Given the description of an element on the screen output the (x, y) to click on. 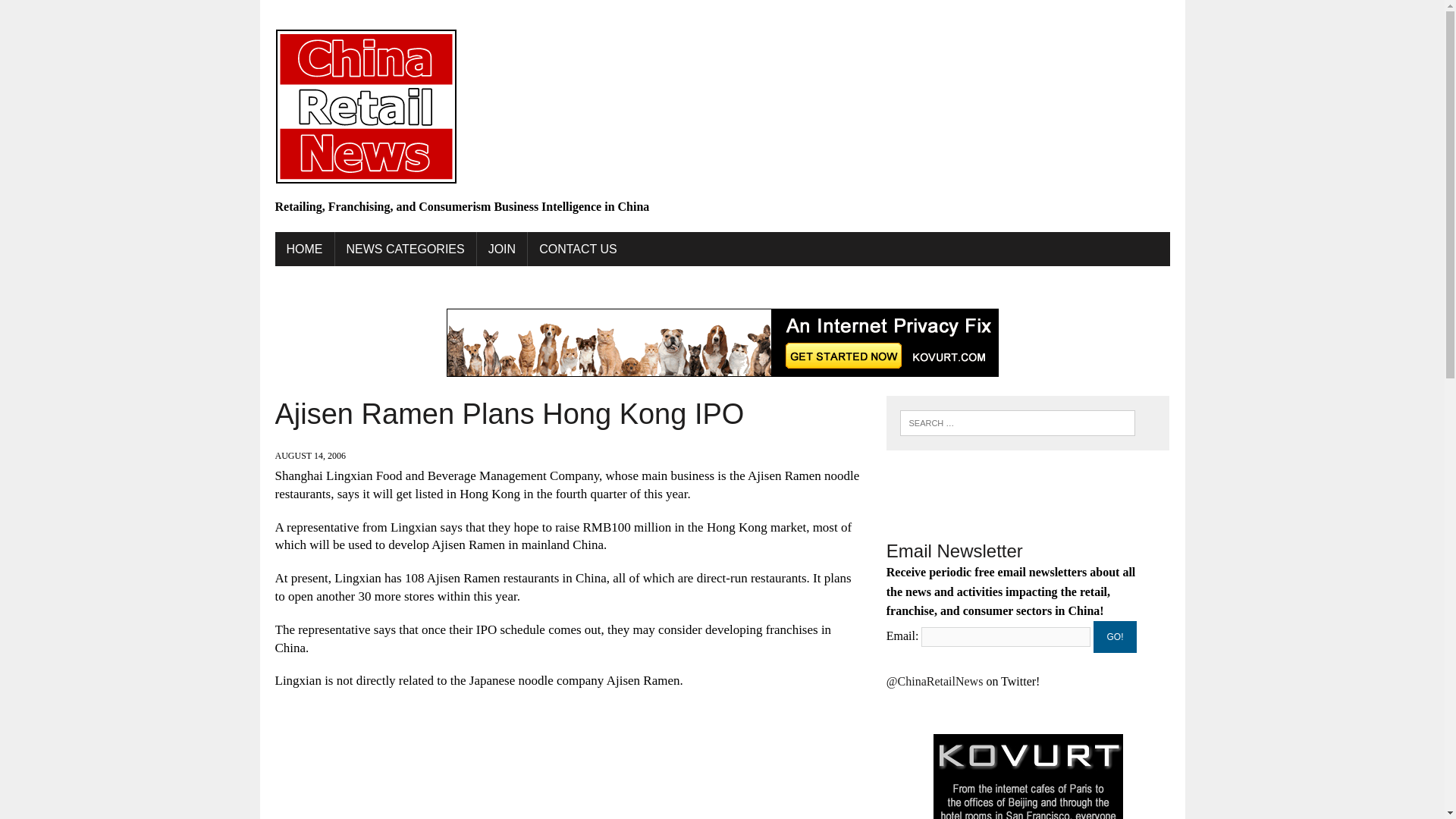
NEWS CATEGORIES (405, 248)
Advertisement (569, 762)
Contact Us (577, 248)
CONTACT US (577, 248)
Search (75, 14)
 GO!  (1115, 636)
 GO!  (1115, 636)
HOME (304, 248)
Join (502, 248)
JOIN (502, 248)
